Given the description of an element on the screen output the (x, y) to click on. 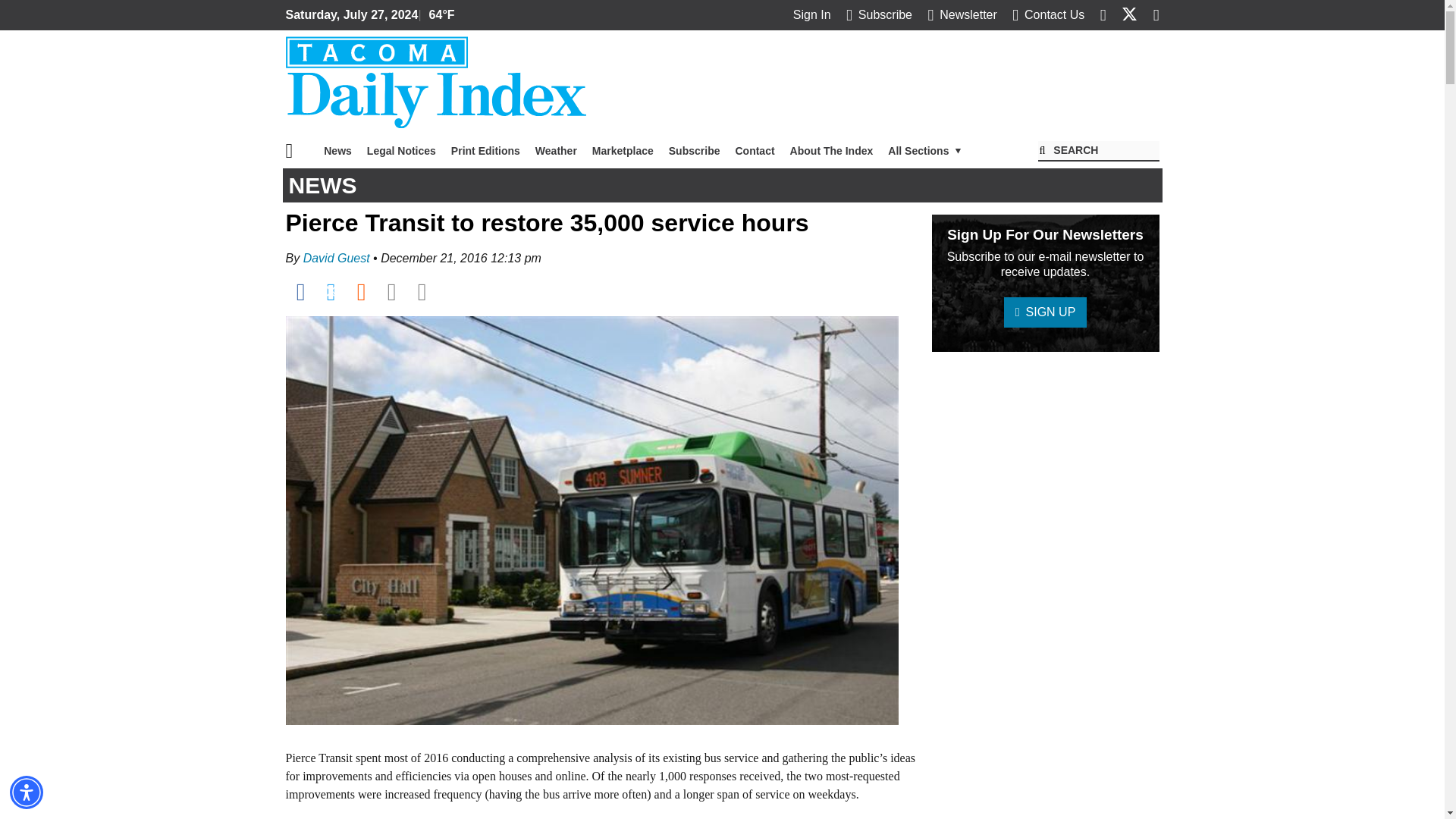
Tacoma Daily Index (435, 81)
Print story (421, 291)
Marketplace (623, 150)
Weather (556, 150)
Sign In (812, 14)
David Guest (335, 257)
Subscribe (694, 150)
Post to Twitter (330, 291)
All Sections (924, 150)
Contact (753, 150)
Contact Us (1047, 14)
Find Us On Twitter (1129, 14)
Accessibility Menu (26, 792)
Newsletter (961, 14)
Post to Facebook (300, 291)
